Given the description of an element on the screen output the (x, y) to click on. 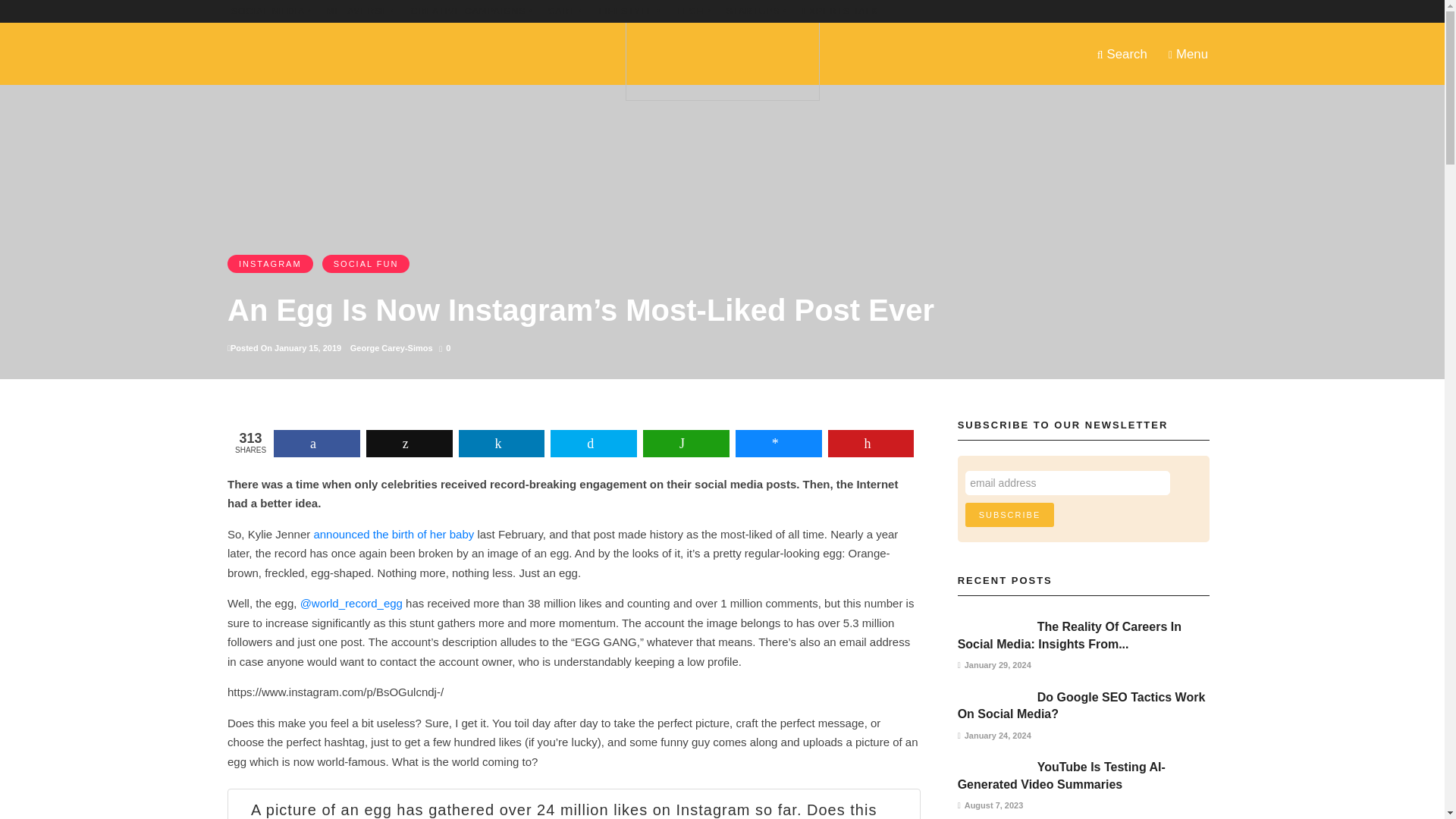
Share on - (593, 443)
Subscribe (1009, 514)
George Carey-Simos (391, 347)
Share on - (501, 443)
top-bar (471, 10)
top-bar (756, 10)
top-bar (629, 10)
Share on - (686, 443)
Share on - (778, 443)
top-bar (839, 10)
